Given the description of an element on the screen output the (x, y) to click on. 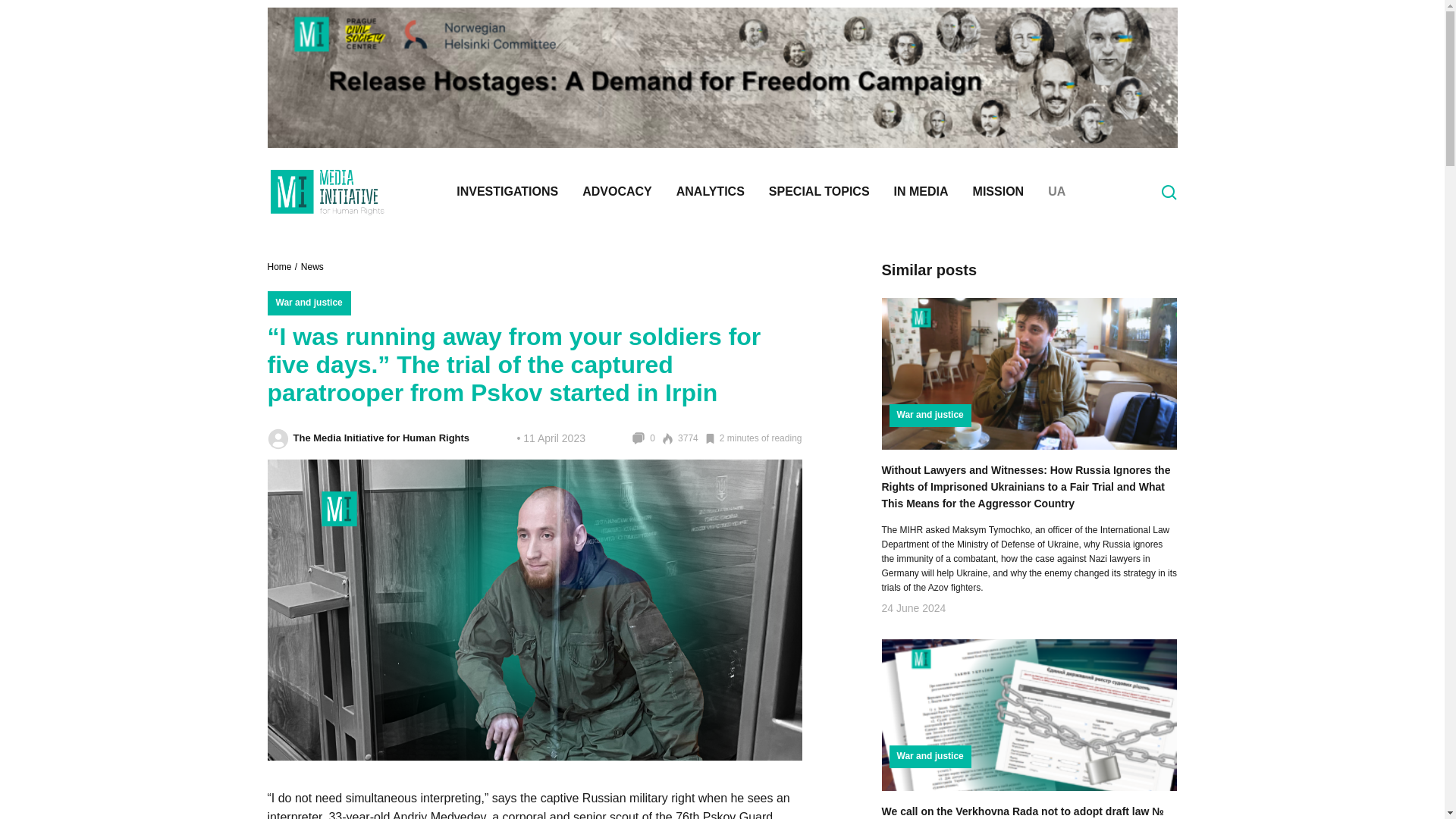
War and justice (308, 303)
ANALYTICS (710, 190)
IN MEDIA (921, 190)
INVESTIGATIONS (507, 190)
Home (282, 267)
MISSION (998, 190)
ADVOCACY (616, 190)
News (312, 267)
SPECIAL TOPICS (819, 190)
UA (534, 267)
